Given the description of an element on the screen output the (x, y) to click on. 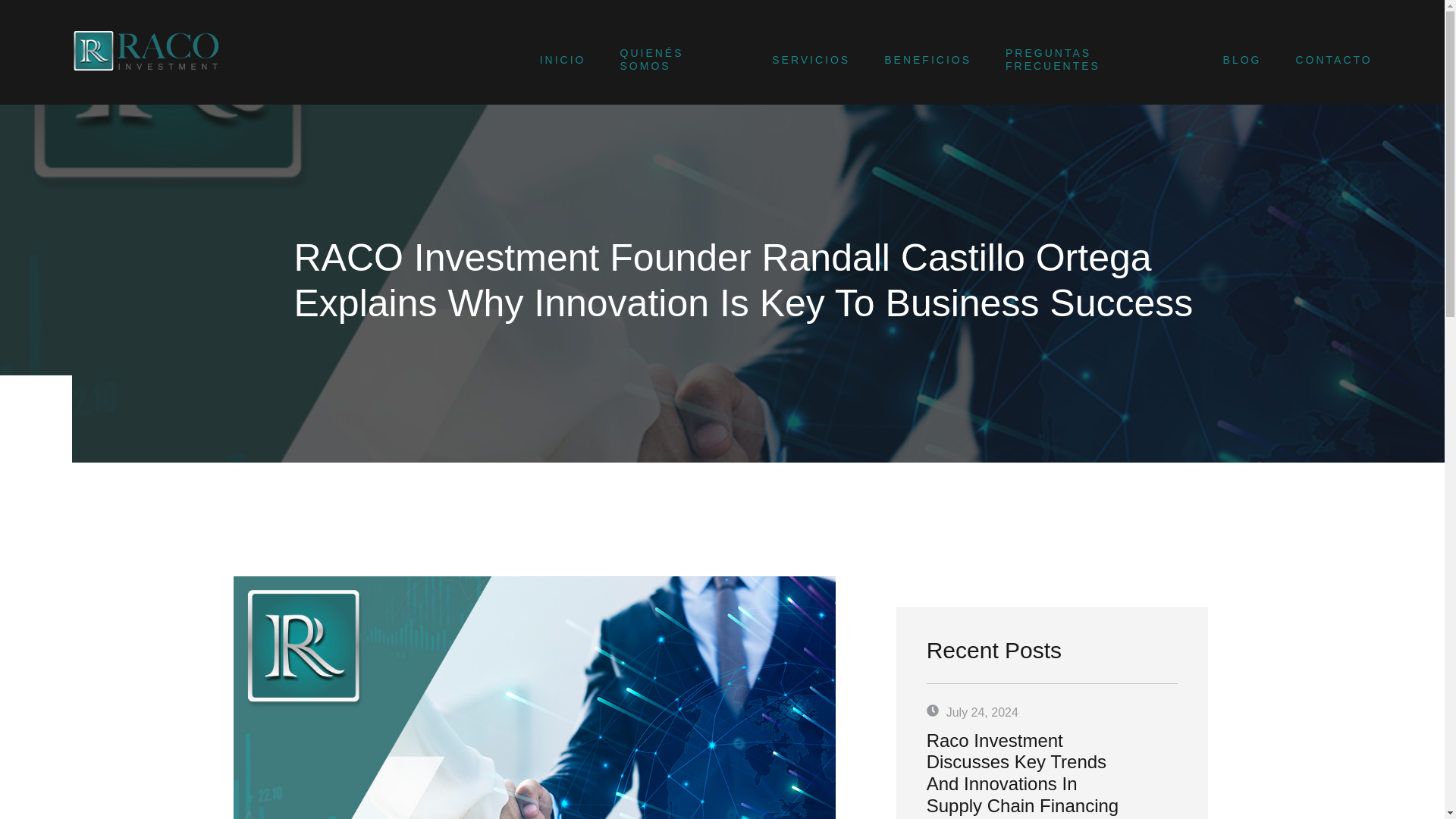
CONTACTO (1315, 59)
BLOG (1225, 59)
BENEFICIOS (910, 59)
PREGUNTAS FRECUENTES (1080, 59)
SERVICIOS (794, 59)
INICIO (545, 59)
